Given the description of an element on the screen output the (x, y) to click on. 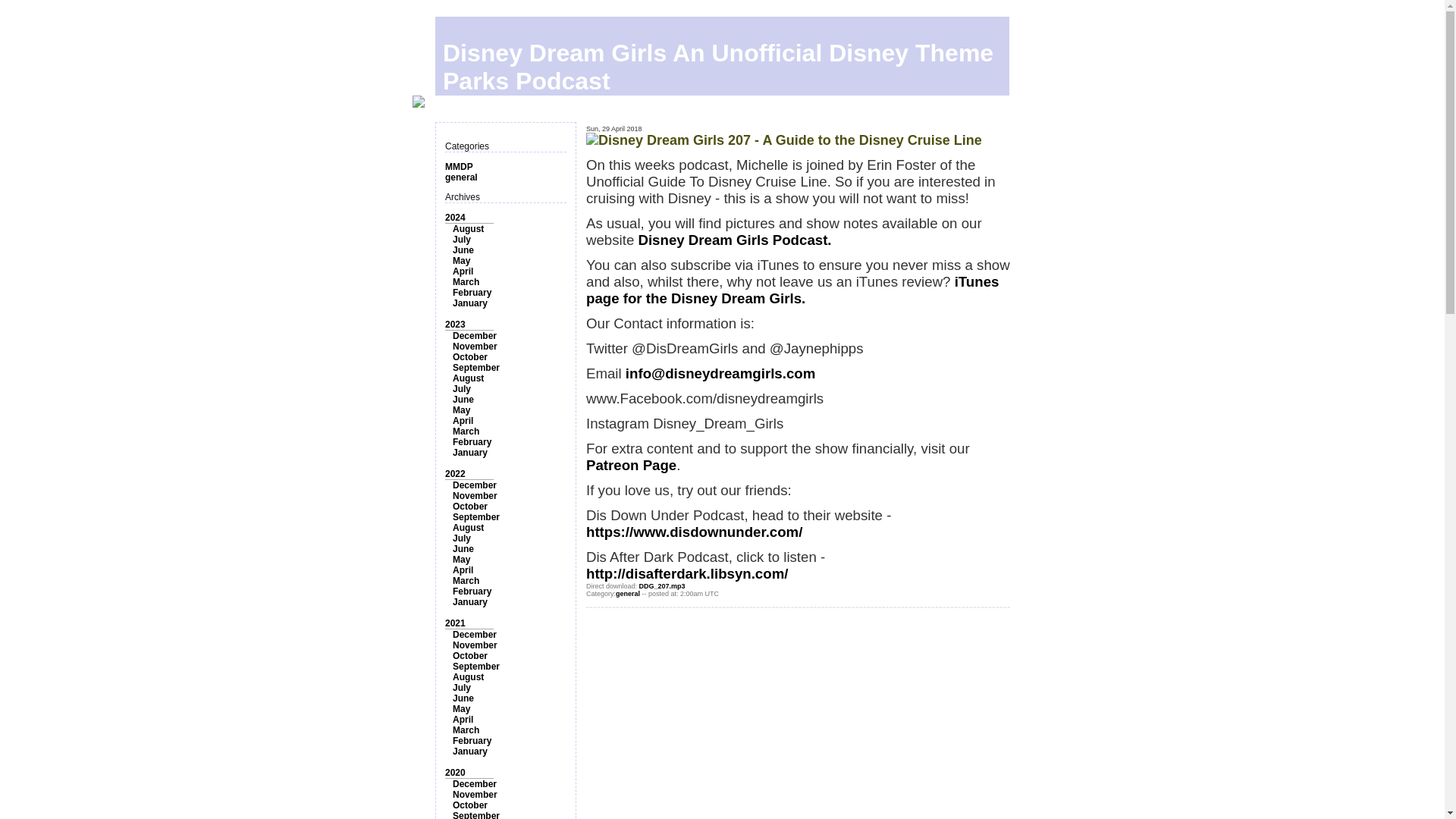
March (465, 580)
January (469, 303)
October (469, 357)
April (462, 570)
January (469, 602)
May (461, 559)
August (467, 527)
2023 (455, 324)
September (475, 367)
2021 (455, 623)
